Given the description of an element on the screen output the (x, y) to click on. 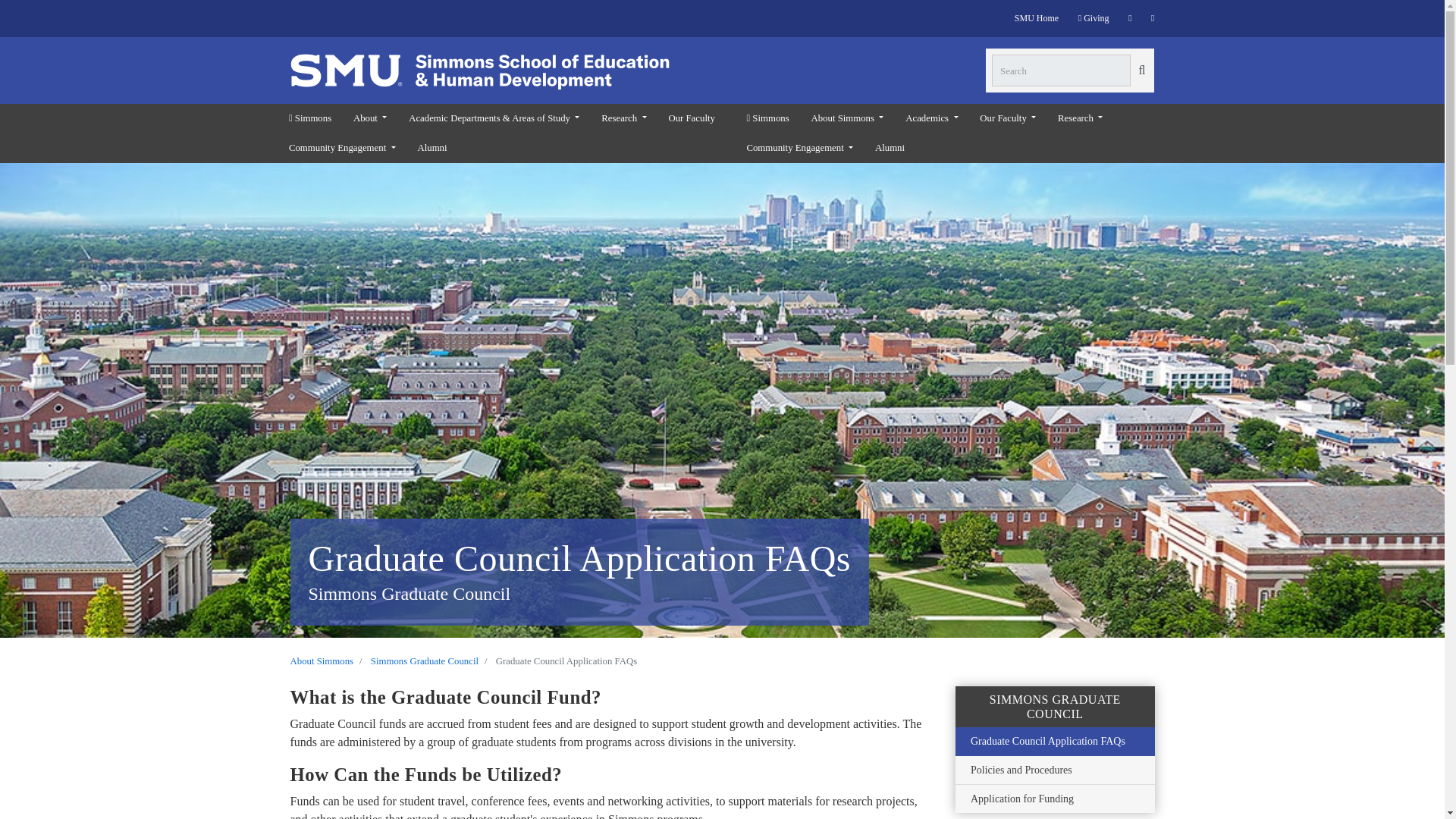
Research (624, 118)
About (369, 118)
About (369, 118)
Our Faculty (691, 118)
Community Engagement (342, 147)
SMU Home (1036, 18)
Alumni (432, 147)
Simmons (310, 118)
 Simmons (310, 118)
Giving (1093, 18)
SMU Home (1093, 18)
